Given the description of an element on the screen output the (x, y) to click on. 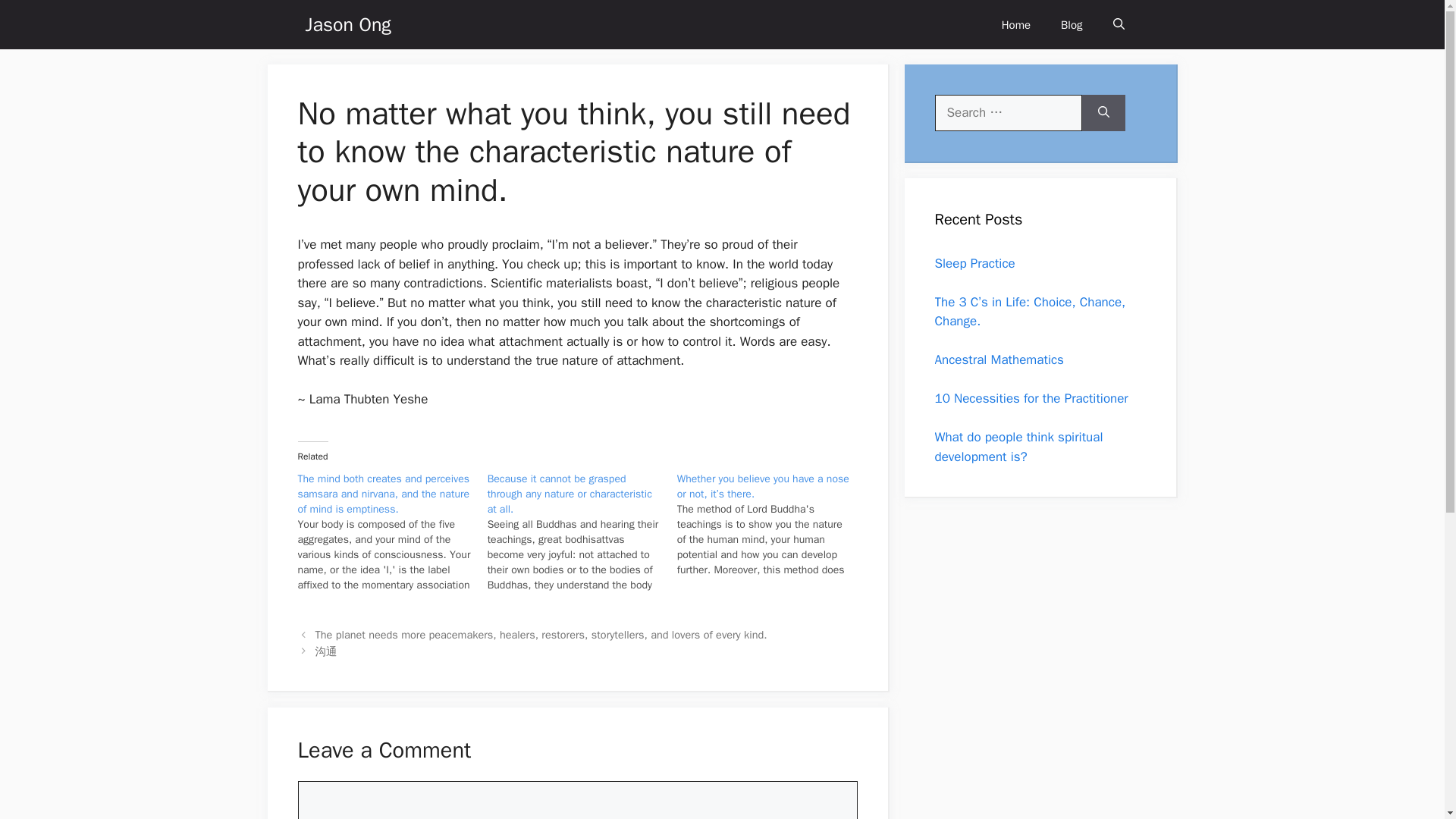
Previous (541, 634)
Search for: (1007, 113)
What do people think spiritual development is? (1018, 447)
Jason Ong (347, 24)
